Given the description of an element on the screen output the (x, y) to click on. 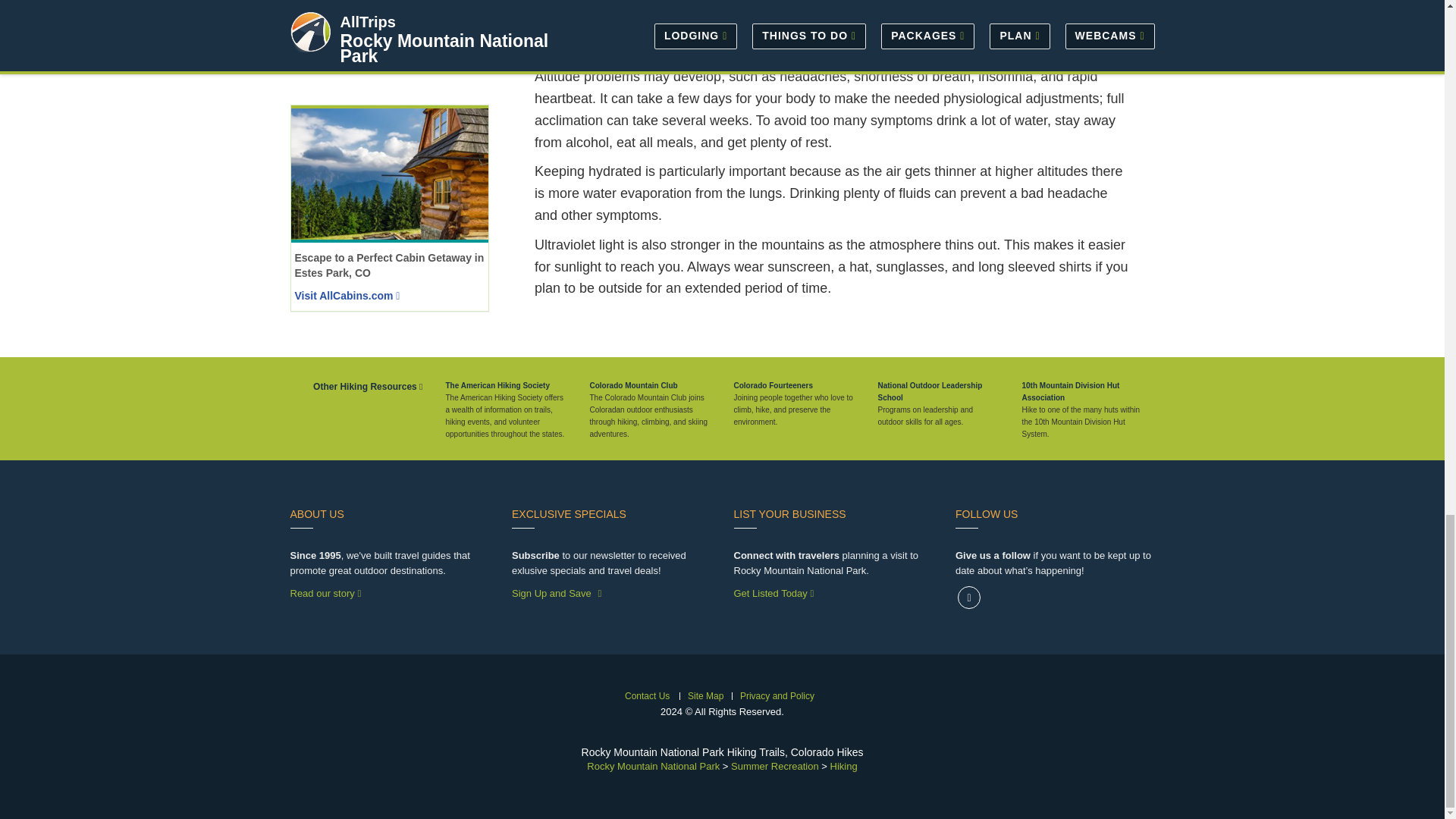
Rocky Mountain National Park (652, 766)
Summer Recreation (774, 766)
Hiking (843, 766)
